Given the description of an element on the screen output the (x, y) to click on. 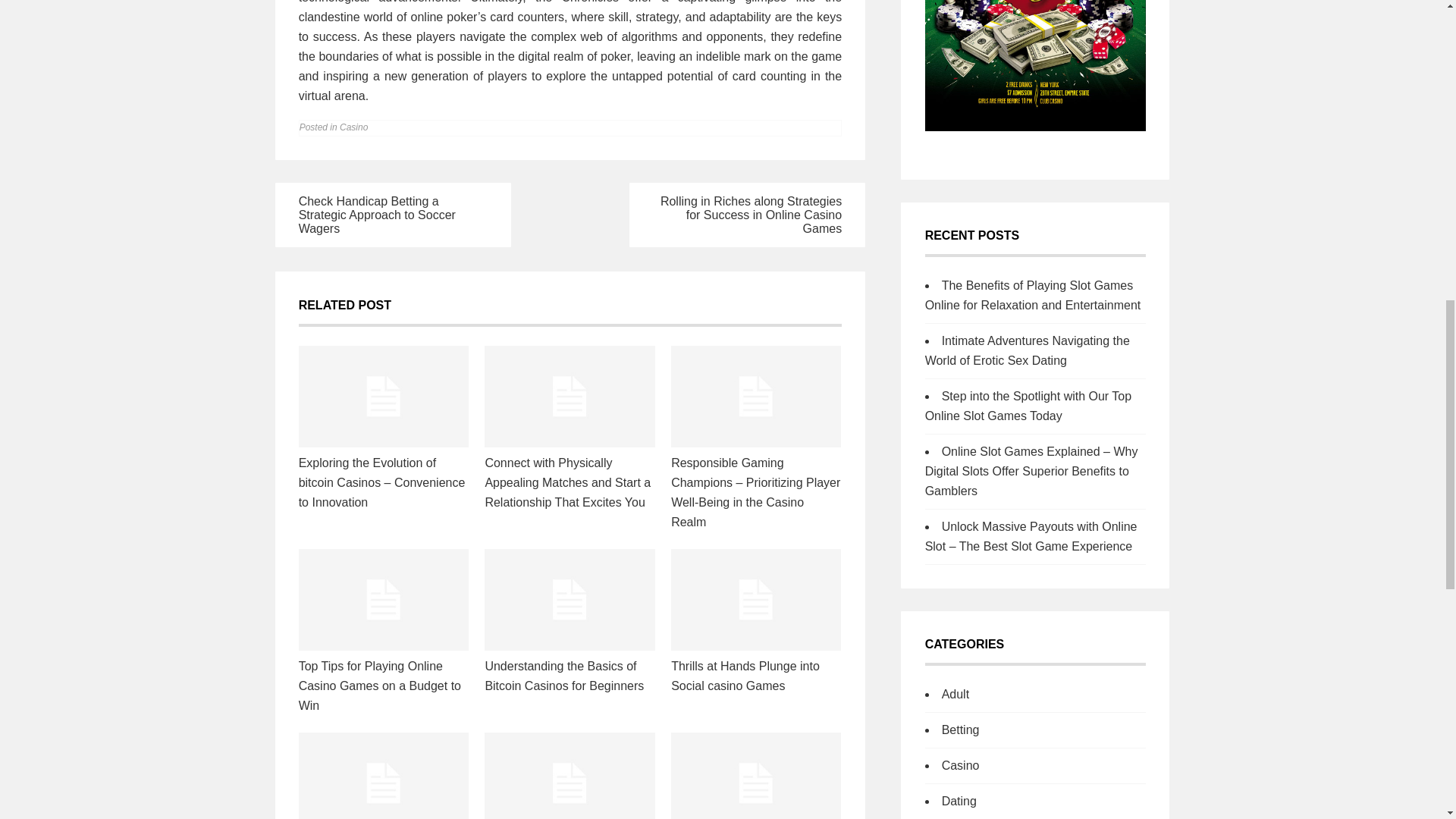
Understanding the Basics of Bitcoin Casinos for Beginners (563, 676)
Thrills at Hands Plunge into Social casino Games (745, 676)
Check Handicap Betting a Strategic Approach to Soccer Wagers (376, 214)
Casino (353, 127)
Top Tips for Playing Online Casino Games on a Budget to Win (379, 685)
